Given the description of an element on the screen output the (x, y) to click on. 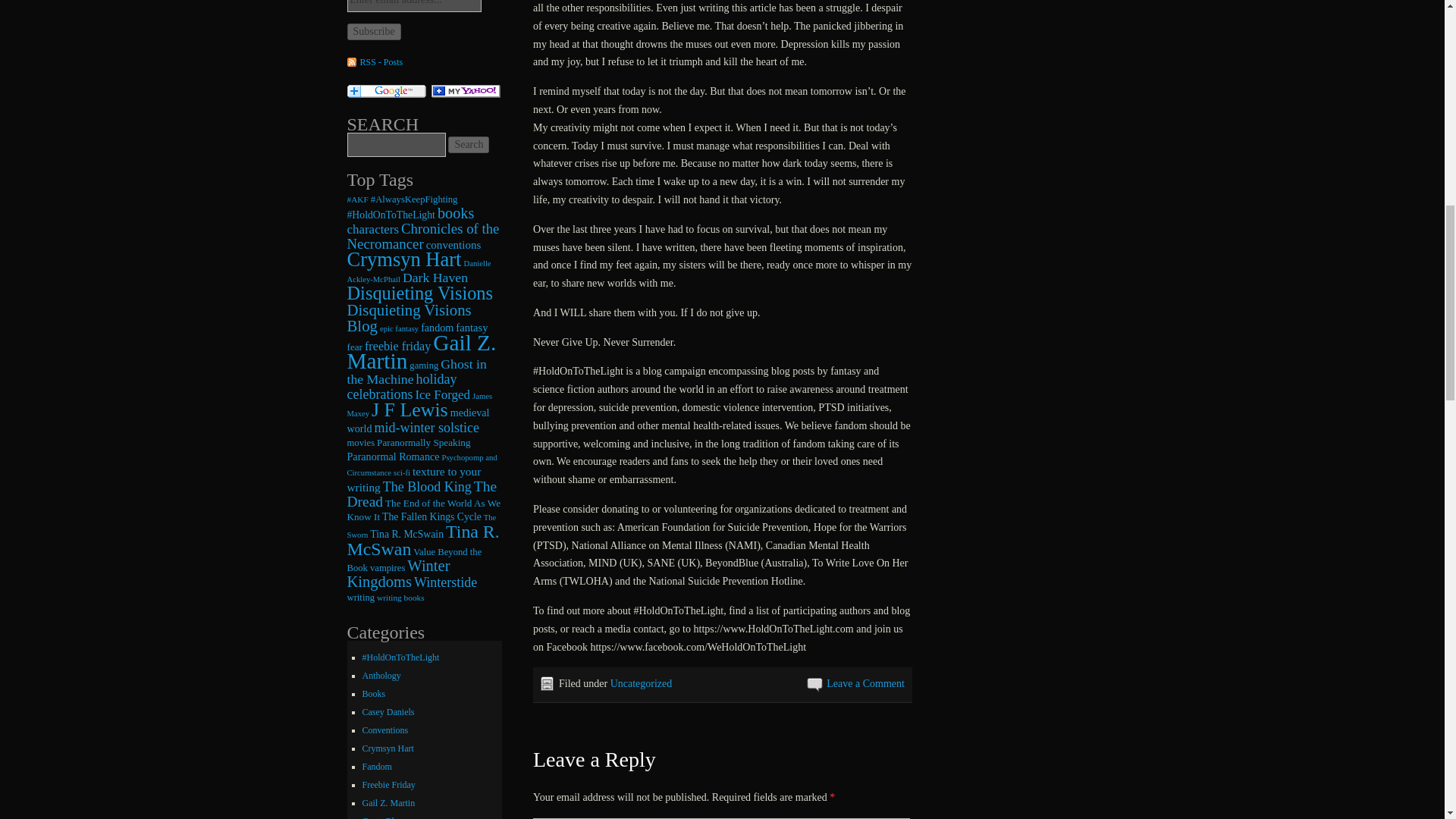
Crymsyn Hart (404, 259)
epic fantasy (399, 328)
Disquieting Visions (420, 292)
Search (468, 144)
characters (372, 228)
fandom (436, 327)
Danielle Ackley-McPhail (419, 271)
Uncategorized (641, 683)
conventions (453, 244)
books (456, 212)
